Given the description of an element on the screen output the (x, y) to click on. 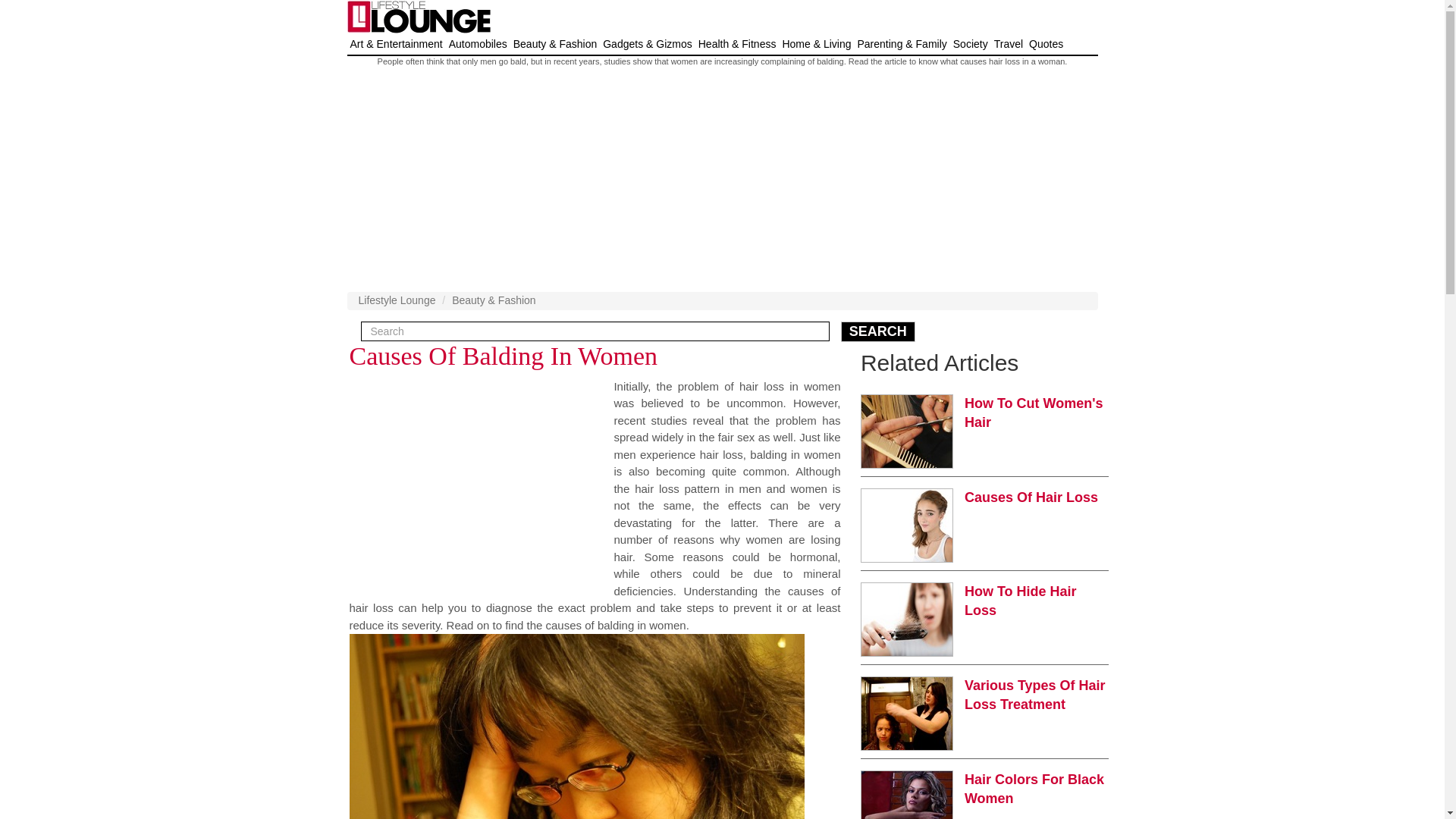
Advertisement (476, 484)
How To Hide Hair Loss (1020, 601)
How To Cut Women's Hair (1033, 412)
SEARCH (878, 332)
Lifestyle Lounge (396, 300)
Automobiles (478, 43)
Society (970, 43)
Travel (1008, 43)
Quotes (1045, 43)
Hair Colors For Black Women (1033, 789)
Various Types Of Hair Loss Treatment (1034, 695)
Causes Of Hair Loss (1030, 497)
